Given the description of an element on the screen output the (x, y) to click on. 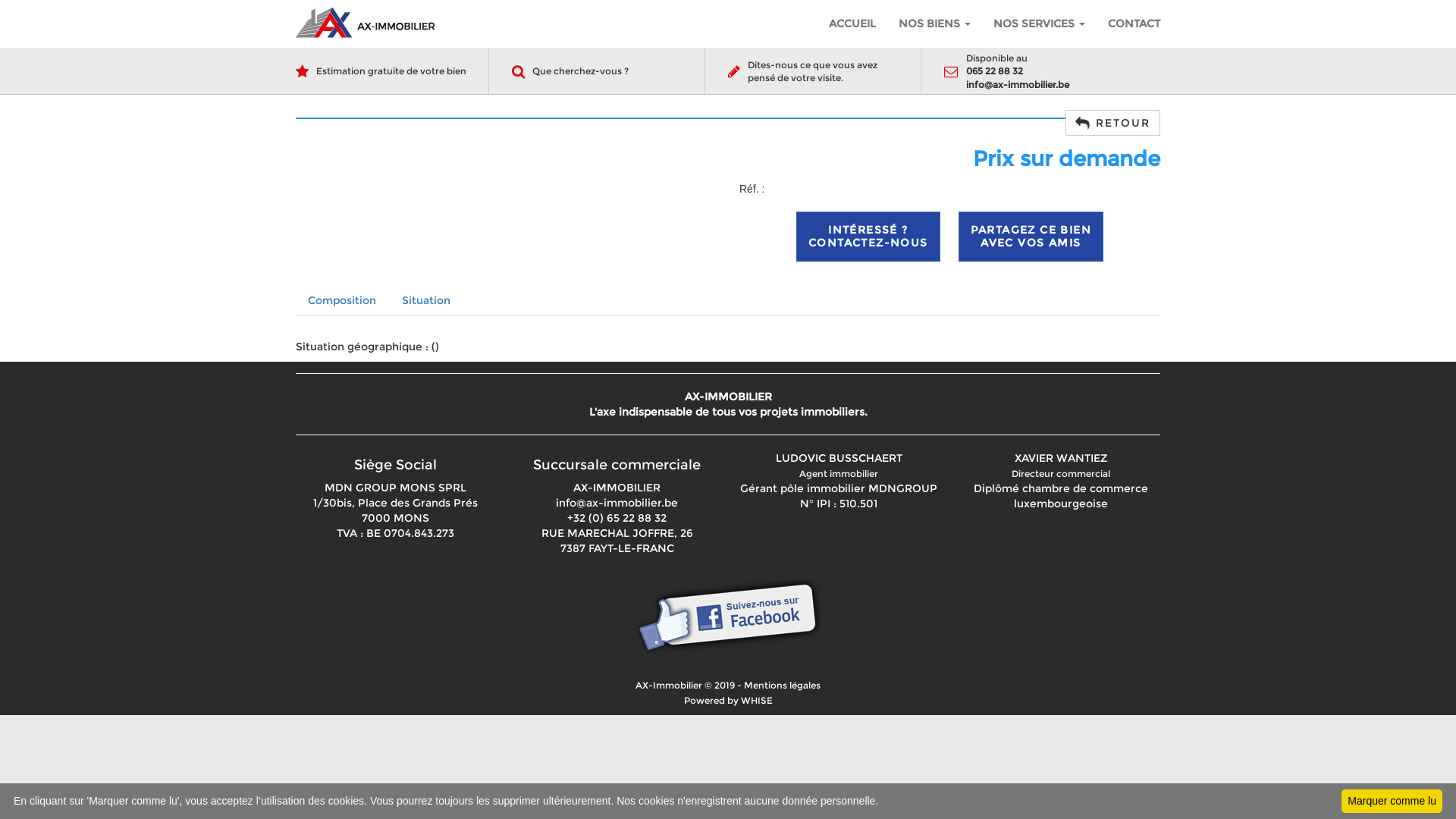
Composition Element type: text (341, 300)
Estimation gratuite de votre bien Element type: text (391, 70)
ACCUEIL Element type: text (852, 23)
Que cherchez-vous ? Element type: text (580, 70)
CONTACT Element type: text (1133, 23)
Situation Element type: text (425, 300)
WHISE Element type: text (755, 700)
PARTAGEZ CE BIEN
AVEC VOS AMIS Element type: text (1030, 236)
RETOUR Element type: text (1112, 122)
NOS SERVICES Element type: text (1039, 23)
NOS BIENS Element type: text (934, 23)
Disponible au
065 22 88 32
info@ax-immobilier.be Element type: text (1017, 70)
